Given the description of an element on the screen output the (x, y) to click on. 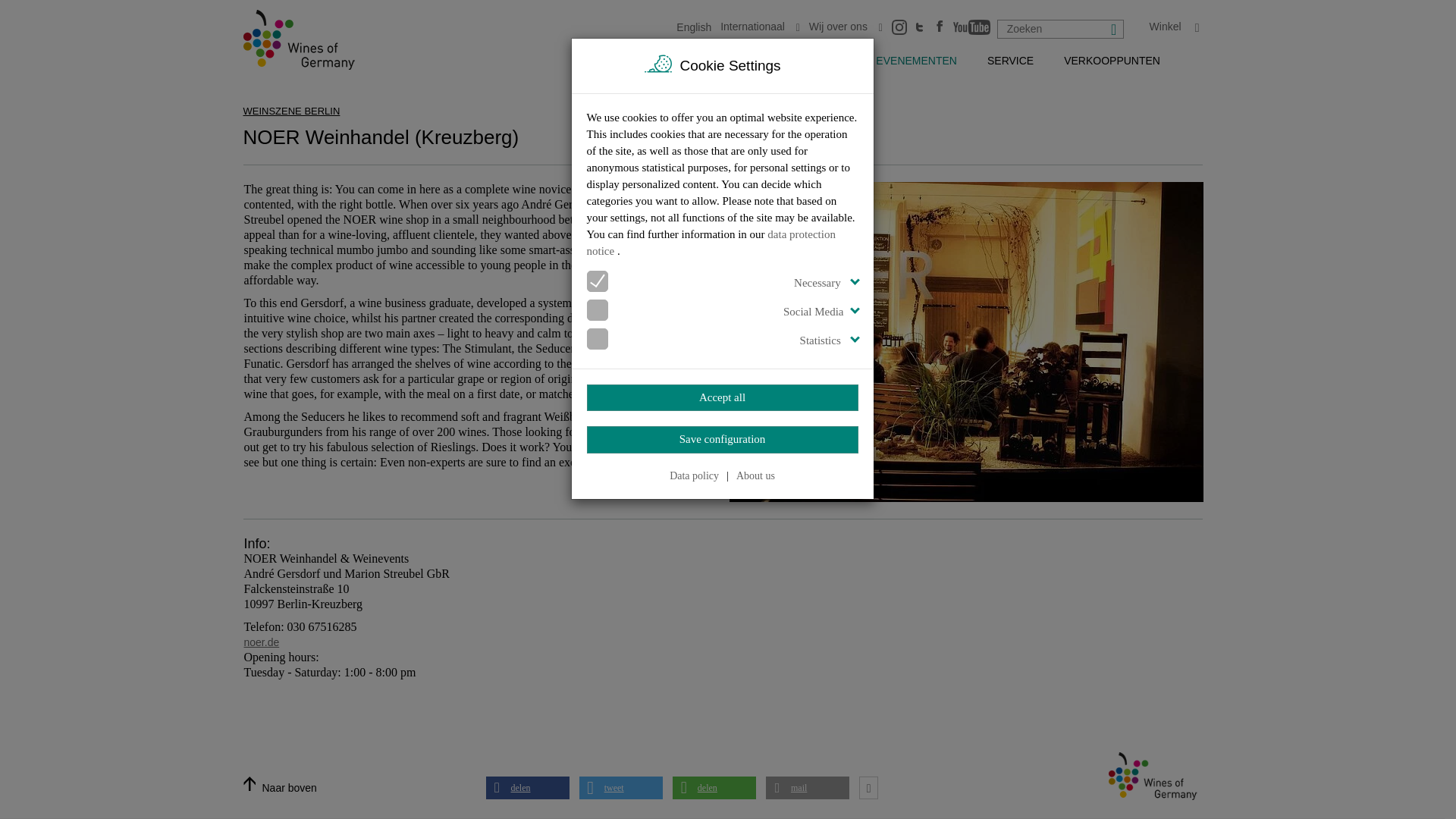
Winkel (1174, 26)
Deutsches Weininstitut (304, 38)
Wij over ons (845, 26)
Delen op Twitter (620, 787)
DUITSE WIJN EN WETEN (713, 60)
on (591, 339)
Internationaal (760, 26)
Sturen via e-mail (806, 787)
Wij over ons (845, 26)
on (591, 282)
